Given the description of an element on the screen output the (x, y) to click on. 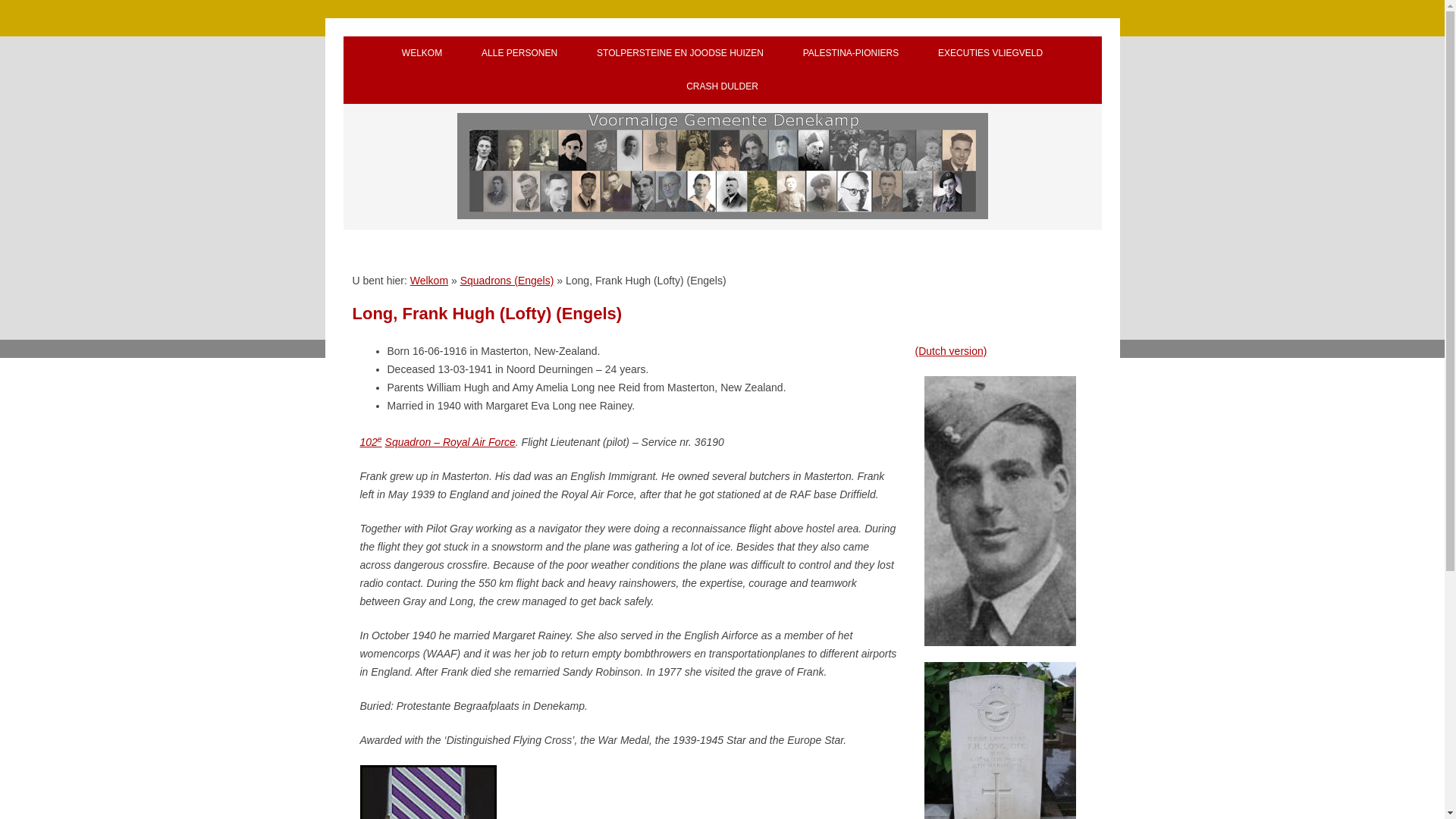
EXECUTIES VLIEGVELD (989, 52)
PALESTINA-PIONIERS (850, 52)
STOLPERSTEINE EN JOODSE HUIZEN (679, 52)
CRASH DULDER (721, 86)
ALLE PERSONEN (519, 52)
WELKOM (421, 52)
102e (370, 441)
Welkom (429, 280)
